Given the description of an element on the screen output the (x, y) to click on. 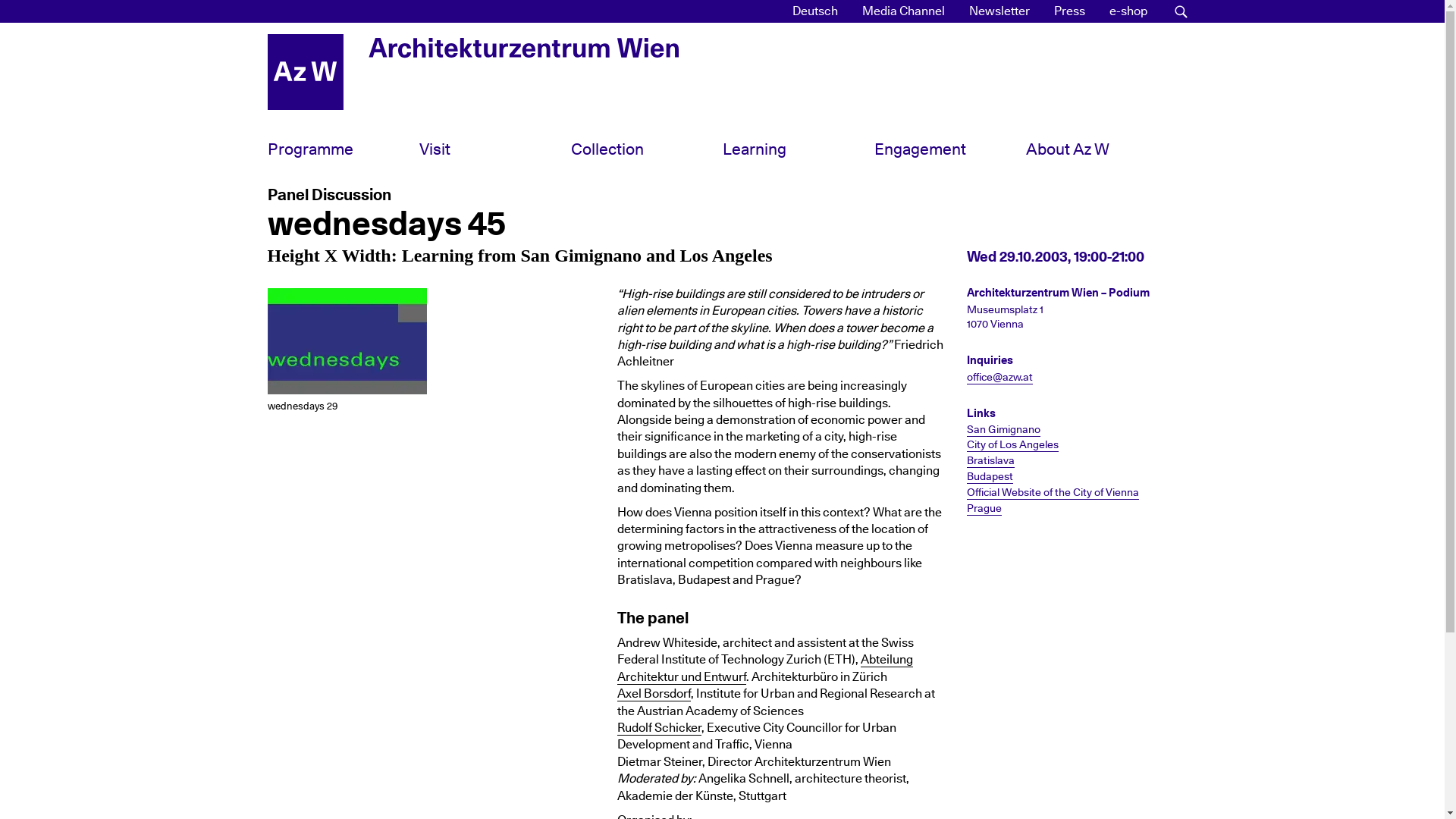
Newsletter (721, 151)
Collection (999, 10)
Media Channel (646, 149)
Deutsch (902, 10)
Deutsch (814, 11)
e-shop (814, 11)
Press (1127, 10)
Programme (1069, 10)
Search (342, 149)
